Given the description of an element on the screen output the (x, y) to click on. 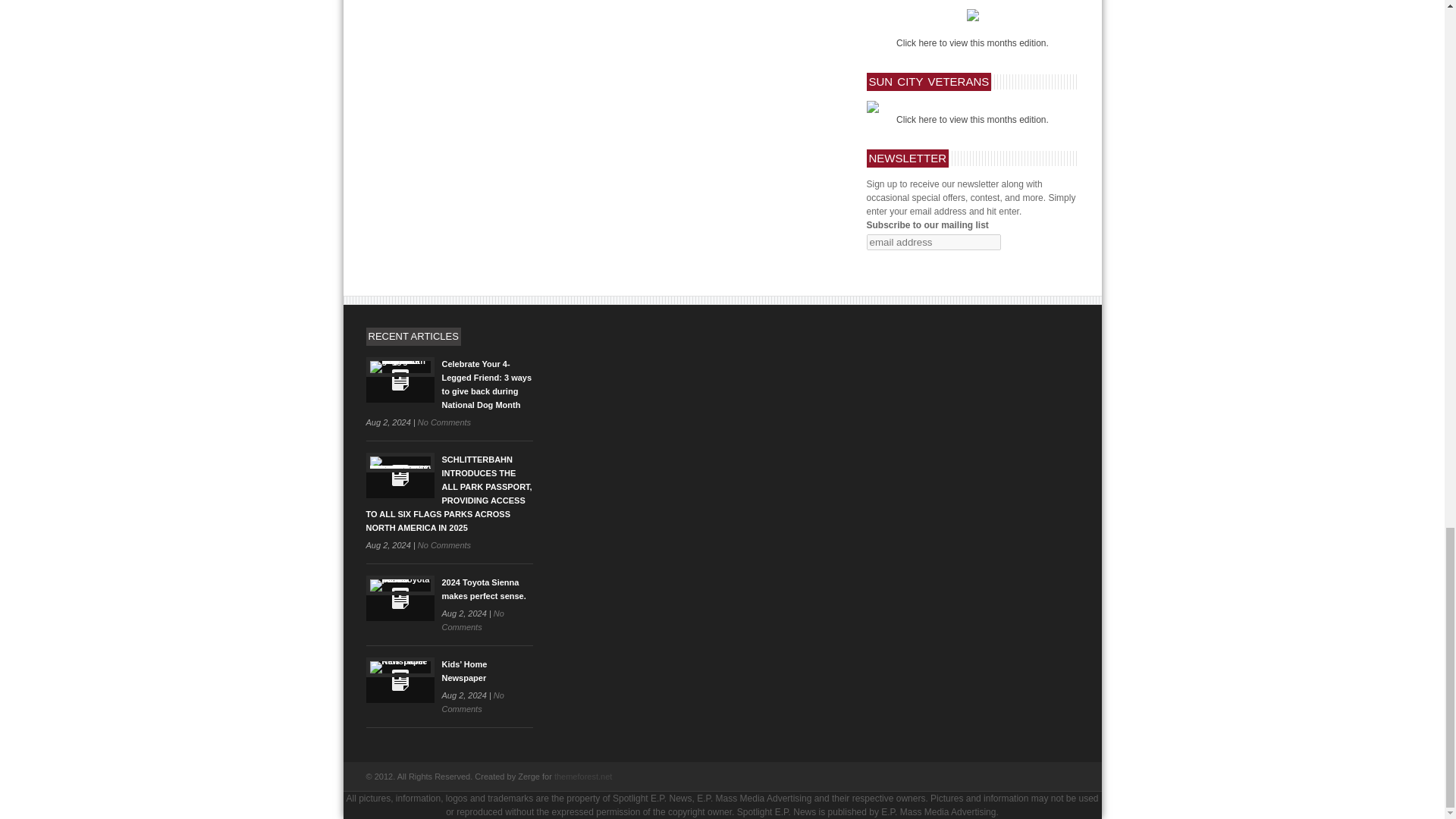
2024 Toyota Sienna makes perfect sense. (399, 597)
No Comments (443, 421)
2024 Toyota Sienna makes perfect sense. (483, 589)
No Comments (443, 544)
2024 Toyota Sienna makes perfect sense. (483, 589)
Click here to view this months edition. (972, 119)
Click here to view this months edition. (972, 42)
Subscribe (892, 262)
No Comments (472, 620)
